Given the description of an element on the screen output the (x, y) to click on. 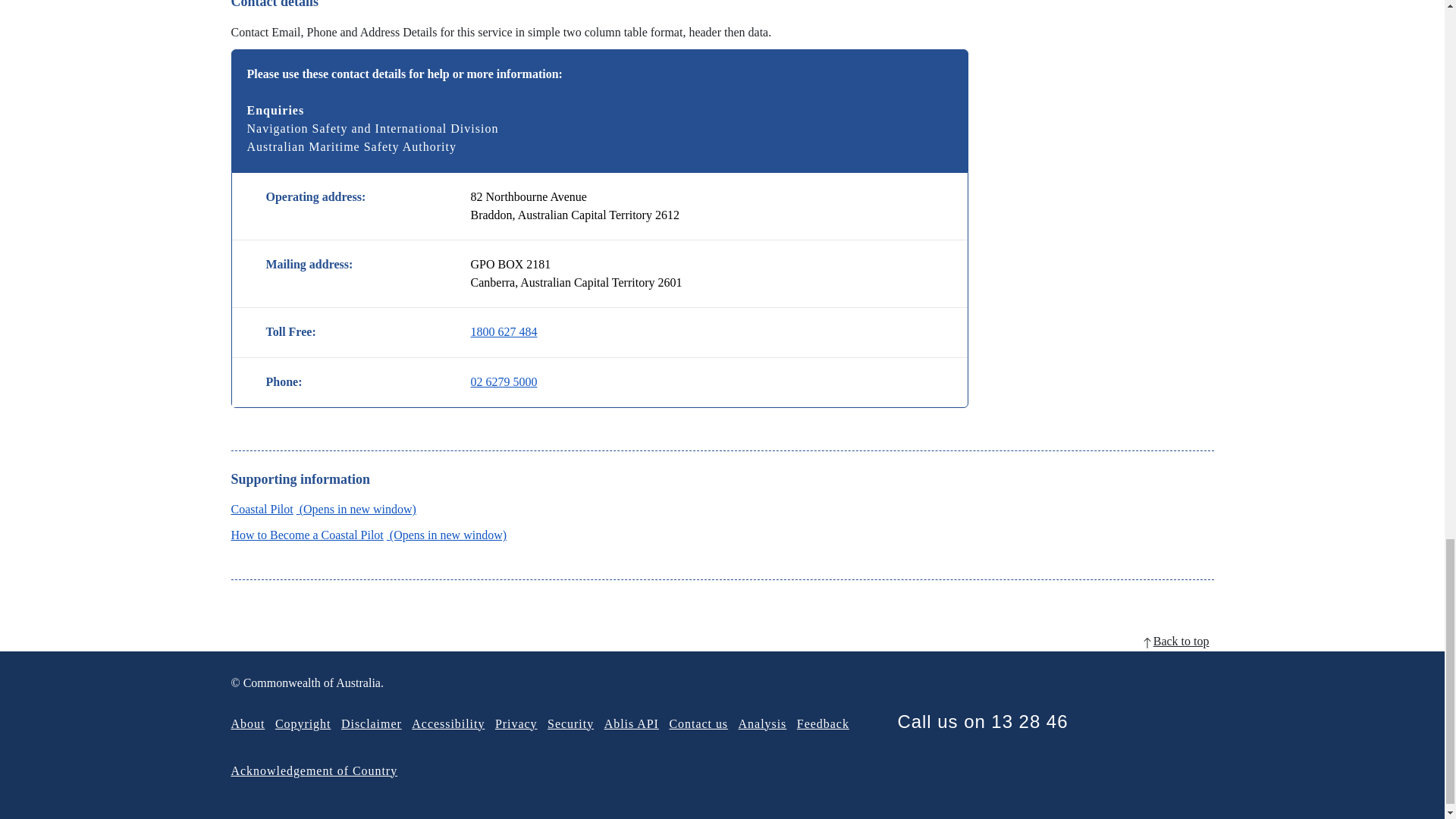
Copyright (303, 723)
About (247, 723)
Privacy (516, 723)
Resources for this service (322, 508)
Disclaimer (370, 723)
Accessibility (448, 723)
Acknowledgement of Country (313, 770)
Analysis (762, 723)
Contact us (698, 723)
1800 627 484 (503, 331)
Feedback (822, 723)
Resources for this service (368, 534)
Back to top (721, 641)
Call us on 13 28 46 (981, 721)
